Given the description of an element on the screen output the (x, y) to click on. 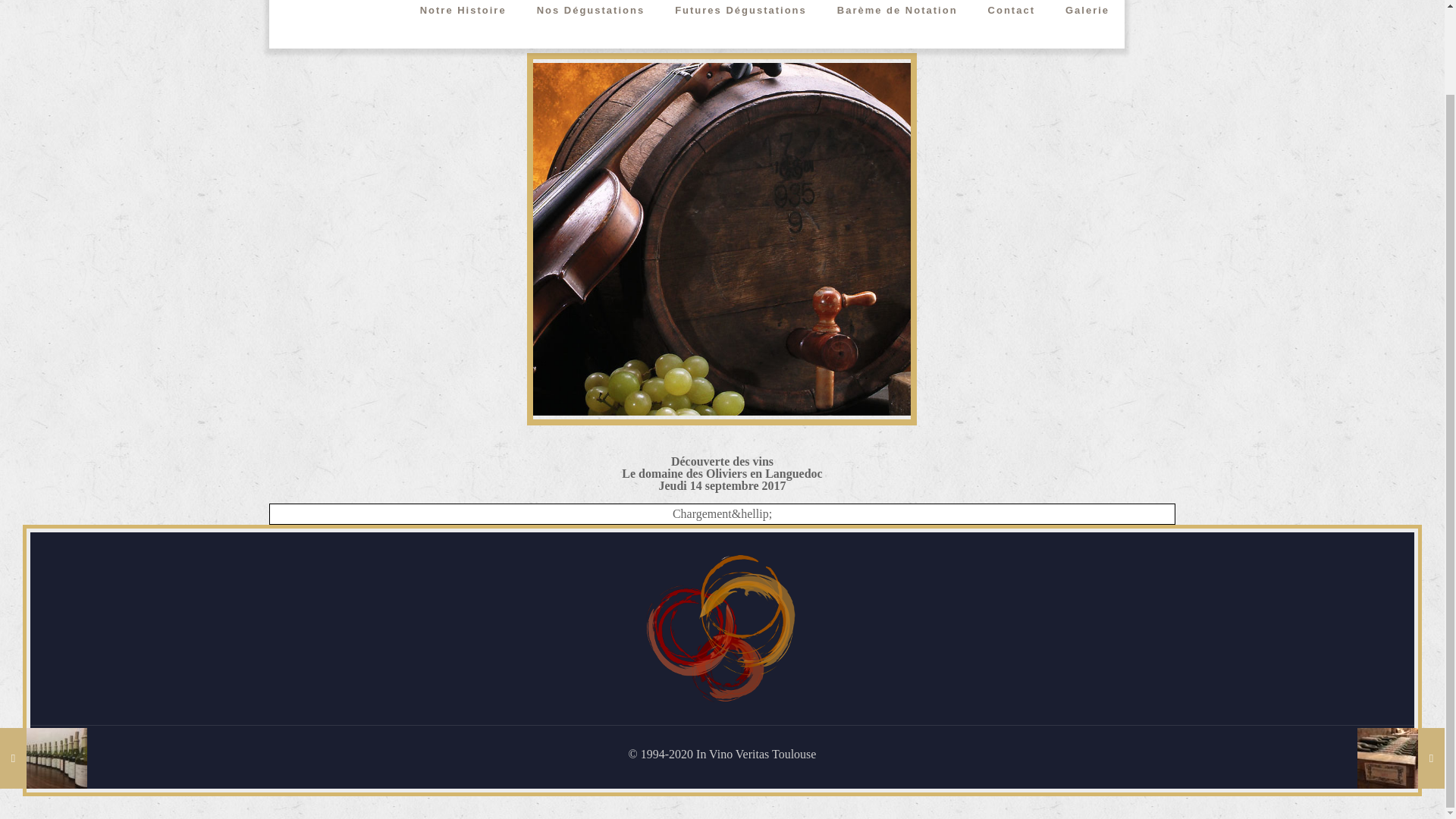
Galerie (1086, 24)
Notre Histoire (462, 24)
Contact (1010, 24)
